Given the description of an element on the screen output the (x, y) to click on. 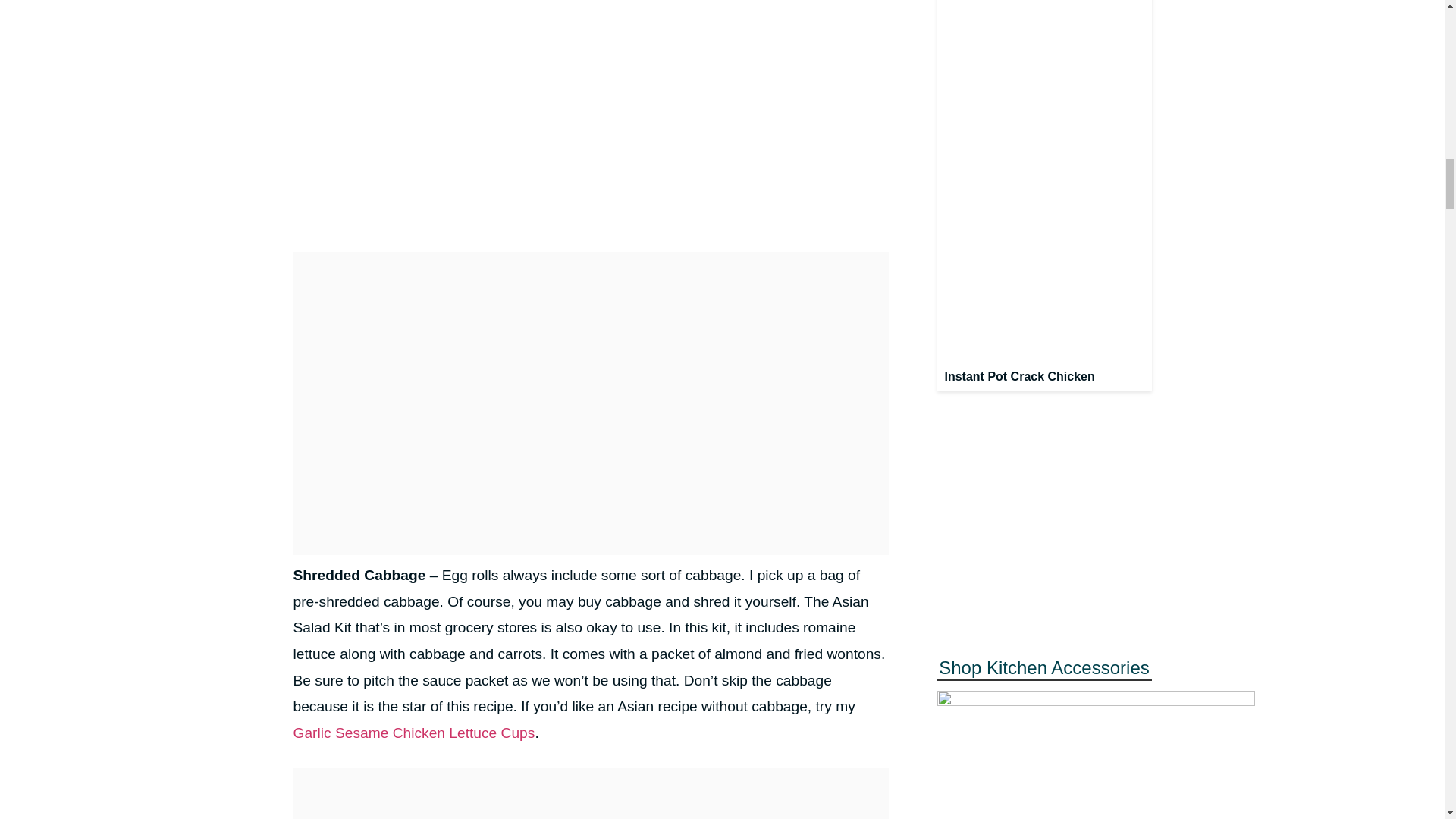
Garlic Sesame Chicken Lettuce Cups (413, 732)
